Given the description of an element on the screen output the (x, y) to click on. 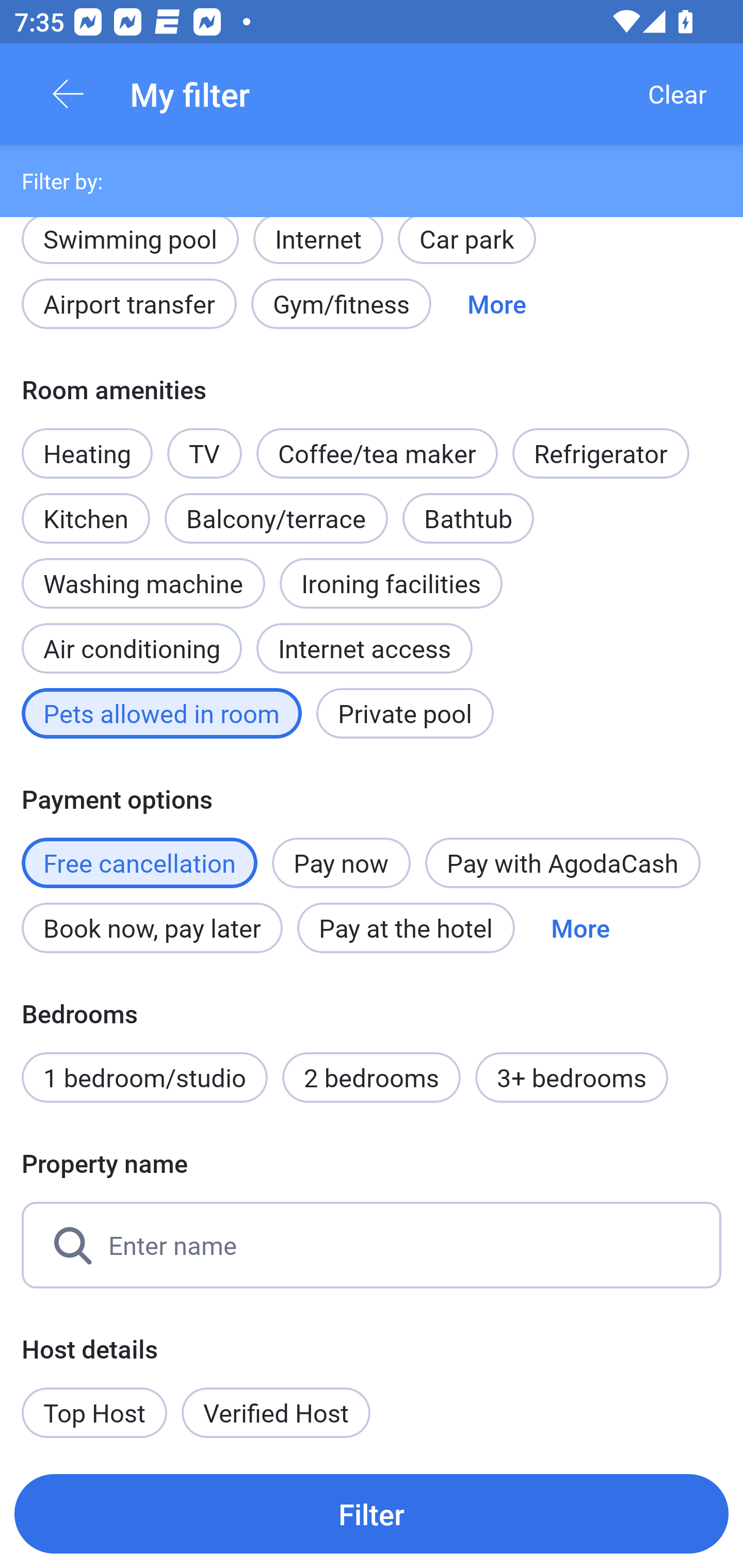
Clear (676, 93)
Swimming pool (130, 249)
Internet (318, 238)
Car park (466, 249)
Airport transfer (129, 303)
Gym/fitness (341, 303)
More (496, 303)
Heating (87, 453)
TV (204, 453)
Coffee/tea maker (376, 453)
Refrigerator (600, 453)
Kitchen (85, 507)
Balcony/terrace (275, 518)
Bathtub (468, 518)
Washing machine (143, 583)
Ironing facilities (390, 583)
Air conditioning (131, 637)
Internet access (364, 648)
Private pool (405, 713)
Pay now (340, 863)
Pay with AgodaCash (562, 863)
Book now, pay later (152, 927)
Pay at the hotel (405, 927)
More (580, 927)
1 bedroom/studio (144, 1077)
2 bedrooms (371, 1077)
3+ bedrooms (571, 1077)
Enter name (371, 1244)
Top Host (94, 1412)
Verified Host (275, 1412)
Filter (371, 1513)
